Given the description of an element on the screen output the (x, y) to click on. 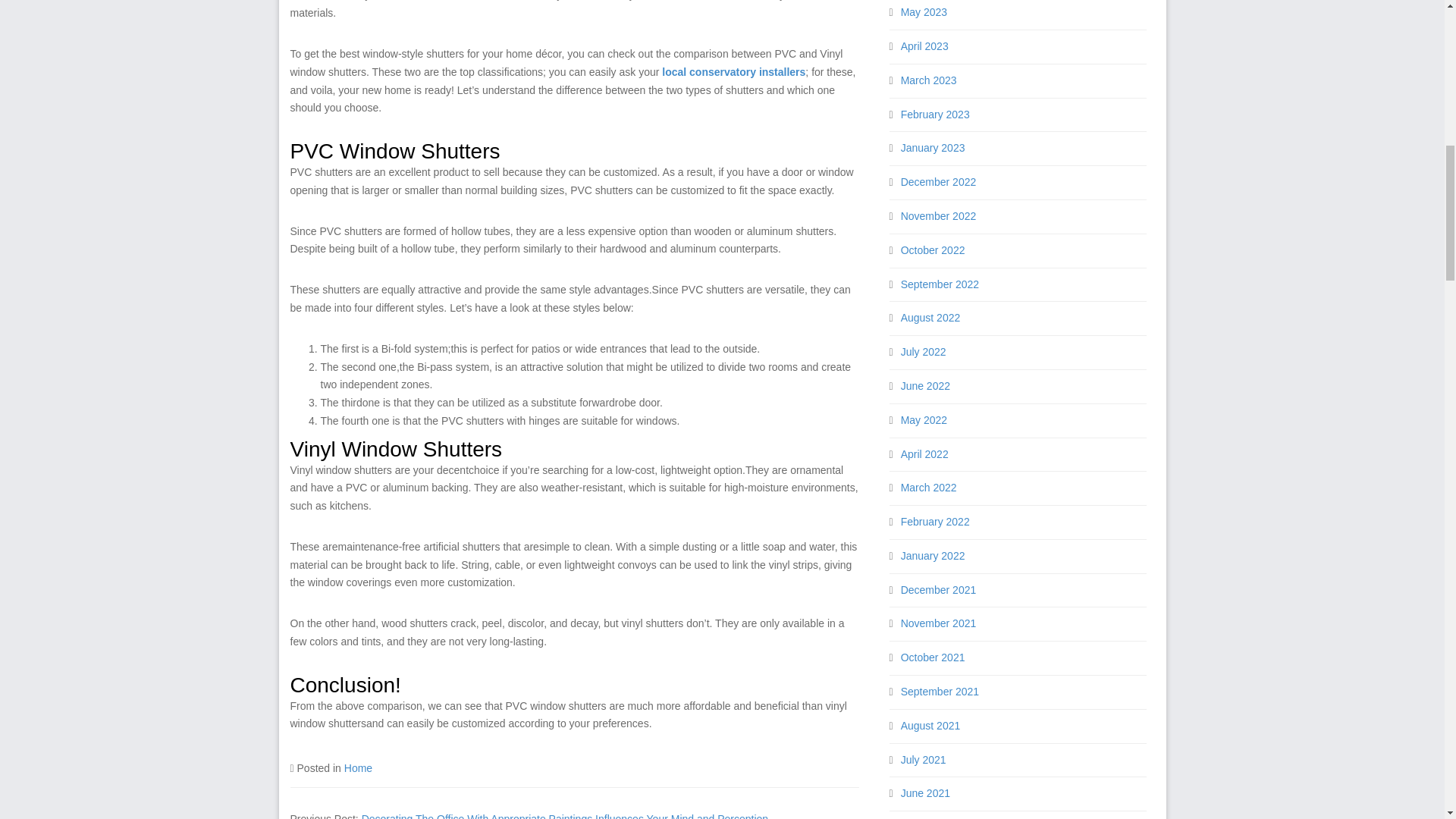
Home (357, 767)
February 2023 (935, 114)
March 2023 (928, 80)
October 2022 (933, 250)
April 2023 (925, 46)
January 2023 (933, 147)
May 2023 (924, 11)
local conservatory installers (733, 71)
November 2022 (938, 215)
